Given the description of an element on the screen output the (x, y) to click on. 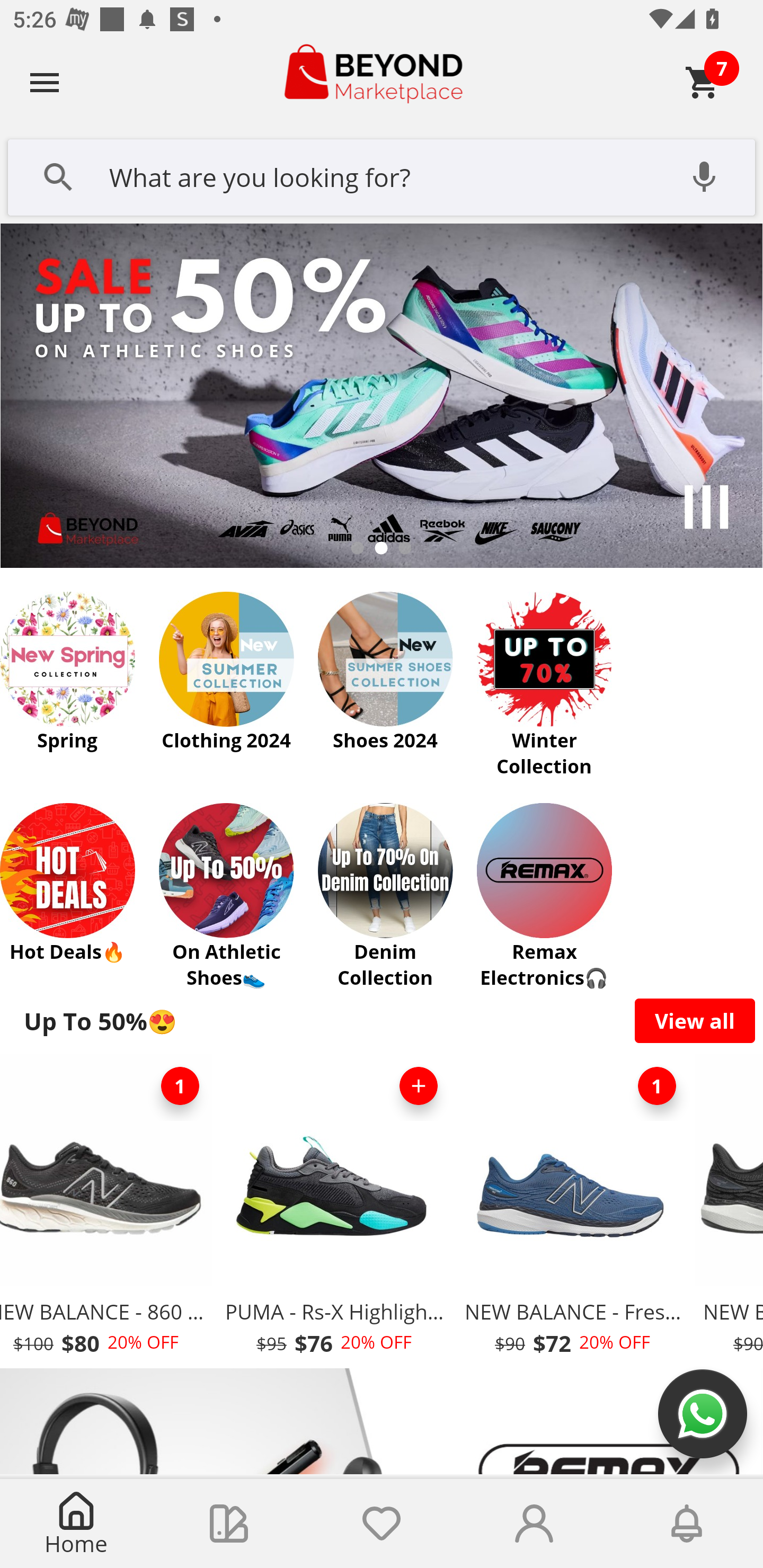
Navigate up (44, 82)
What are you looking for? (381, 175)
View all (694, 1020)
1 NEW BALANCE - 860 Running Shoes $100 $80 20% OFF (107, 1209)
1 (179, 1085)
1 (656, 1085)
Collections (228, 1523)
Wishlist (381, 1523)
Account (533, 1523)
Notifications (686, 1523)
